Given the description of an element on the screen output the (x, y) to click on. 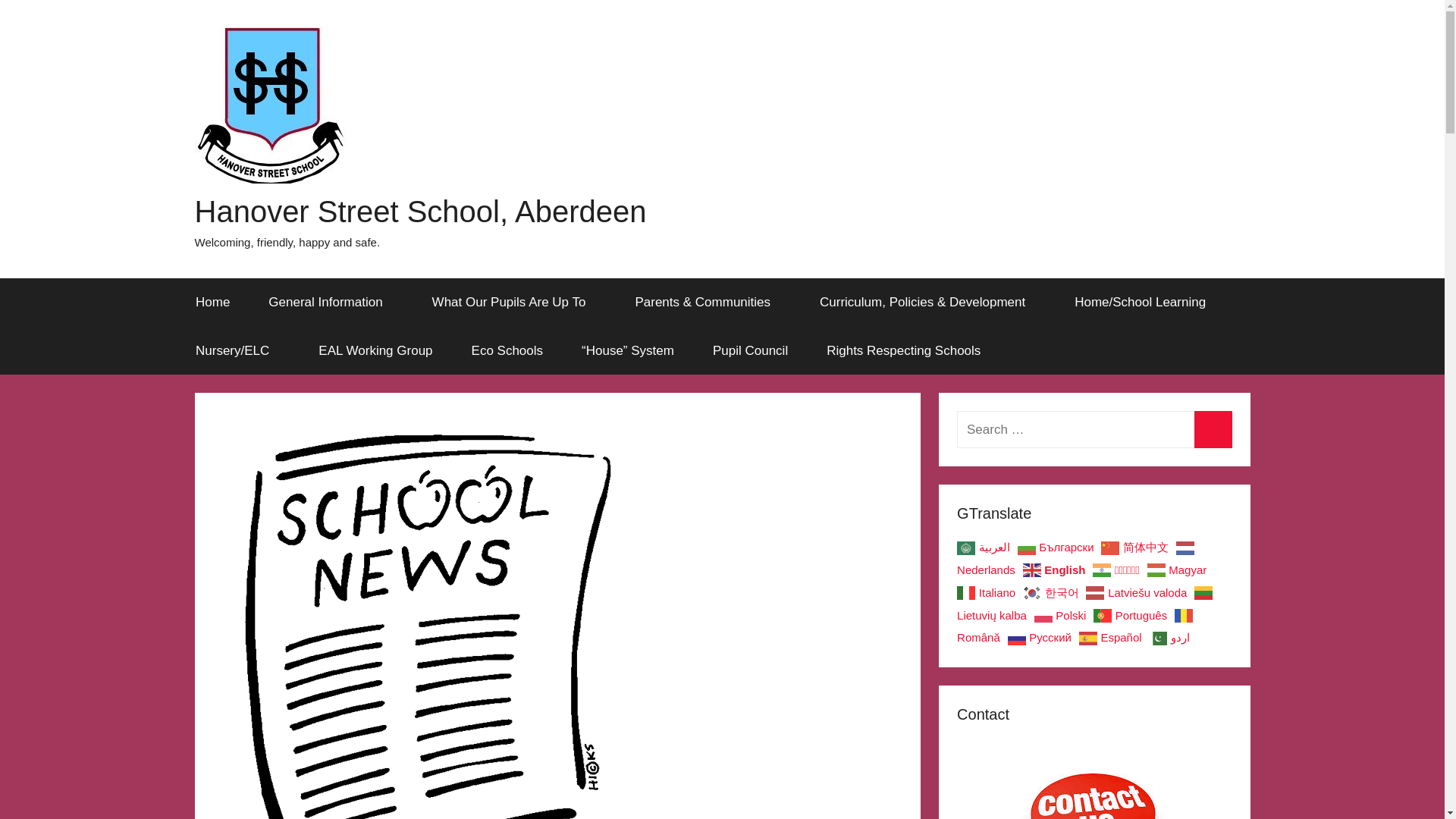
What Our Pupils Are Up To (513, 302)
General Information (330, 302)
Search for: (1093, 429)
Home (212, 302)
Hanover Street School, Aberdeen (419, 210)
